Given the description of an element on the screen output the (x, y) to click on. 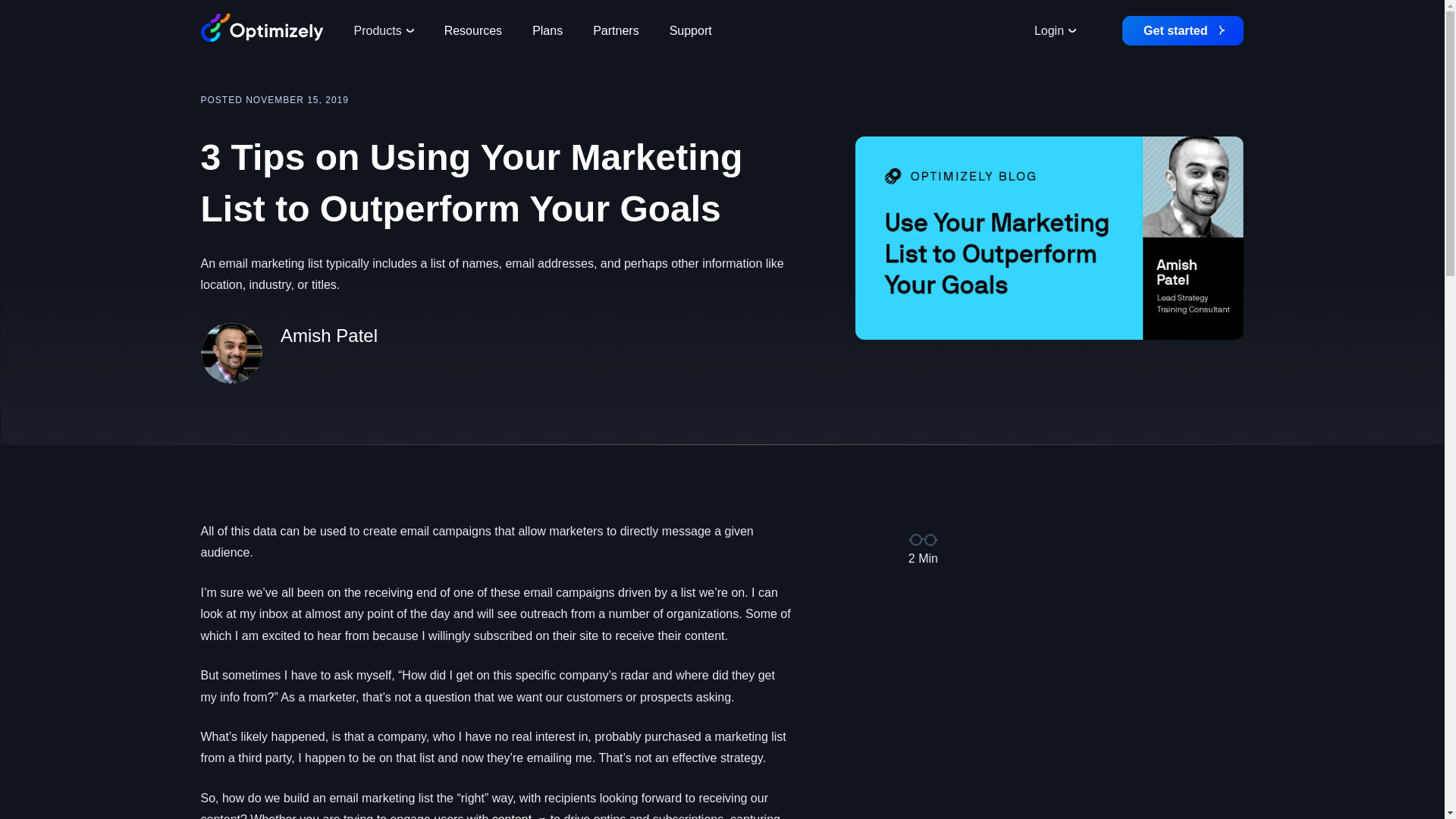
Plans (547, 30)
Optimizely Logo (261, 27)
Products (382, 30)
content (511, 816)
Optimizely Logo (261, 30)
Partners (615, 30)
Resources (472, 30)
Support (689, 30)
Login (1054, 30)
